Given the description of an element on the screen output the (x, y) to click on. 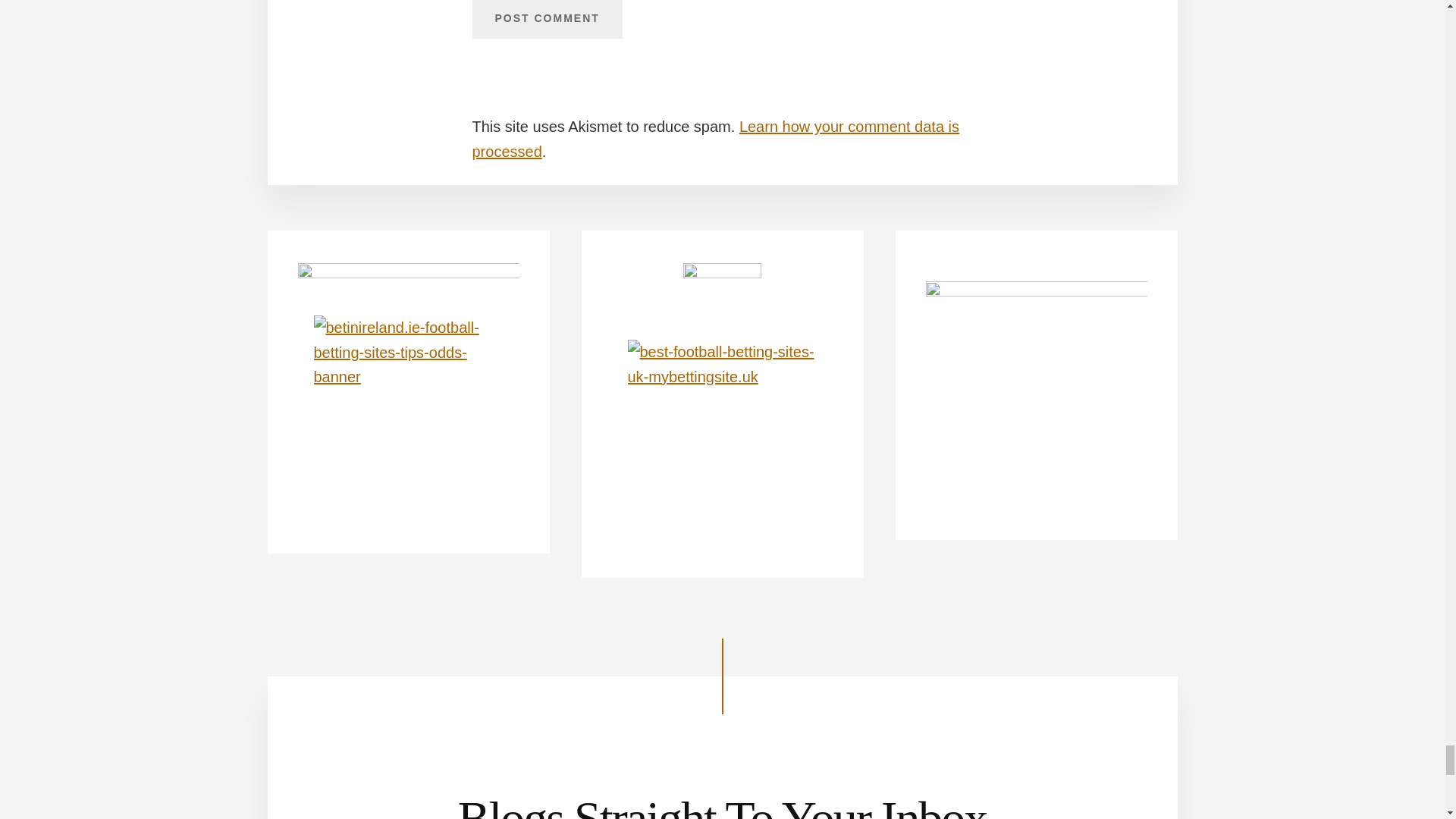
Post Comment (546, 19)
